Given the description of an element on the screen output the (x, y) to click on. 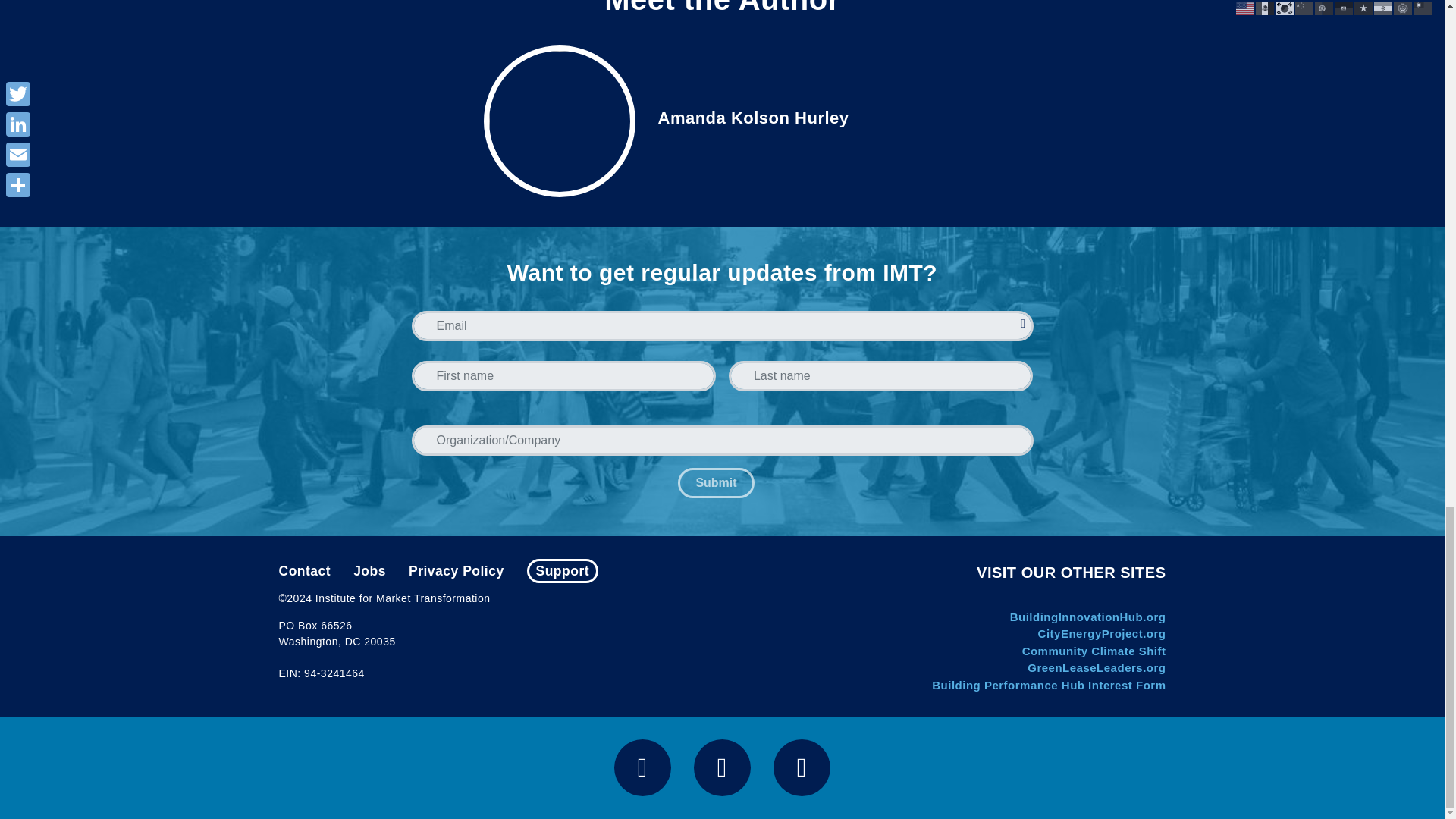
Submit (716, 482)
